Given the description of an element on the screen output the (x, y) to click on. 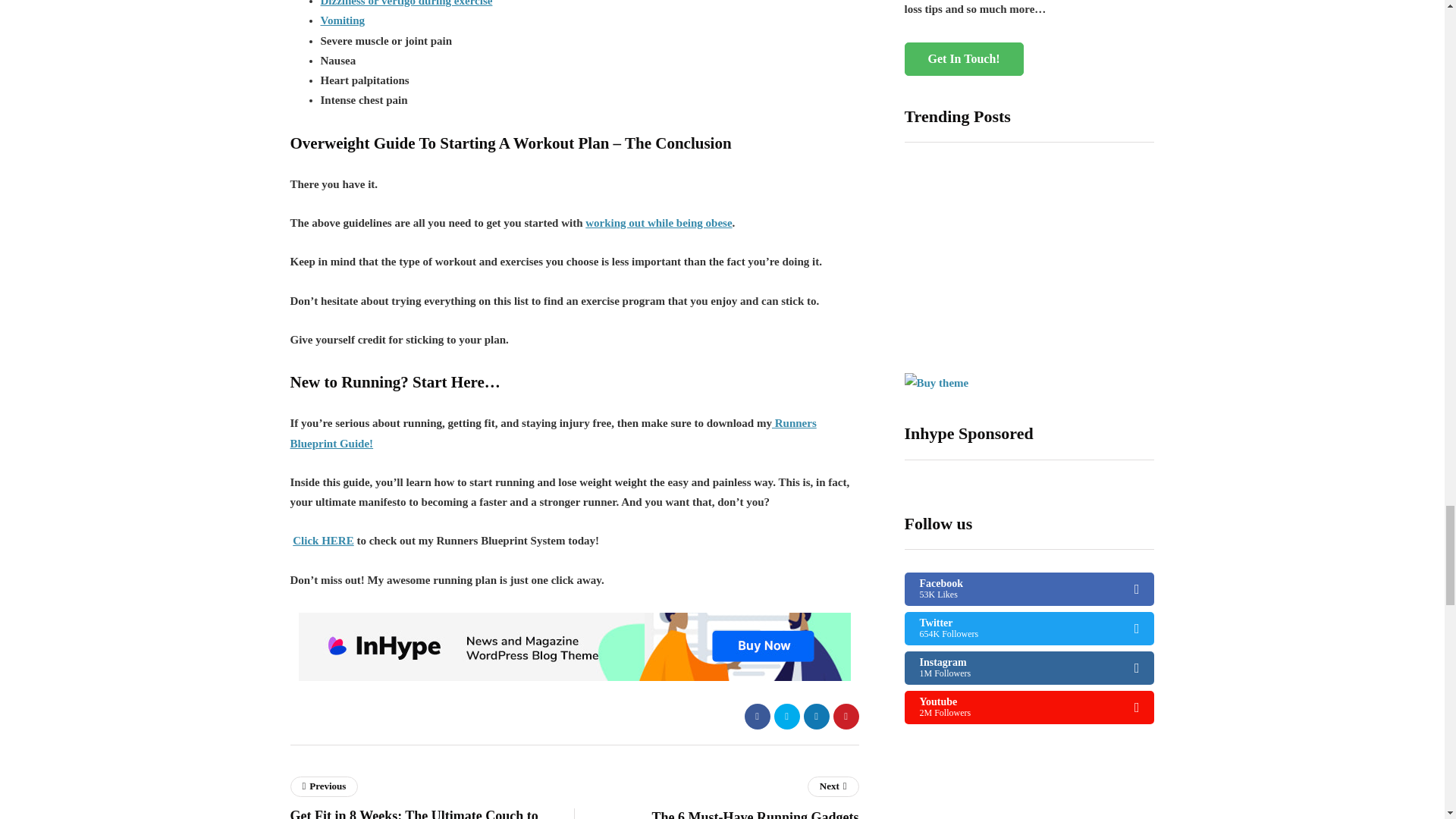
working out while being obese (658, 223)
Share with Facebook (757, 716)
Tweet this (786, 716)
Share with LinkedIn (816, 716)
Dizziness or vertigo during exercise (406, 3)
Pin this (845, 716)
Vomiting (342, 20)
